Given the description of an element on the screen output the (x, y) to click on. 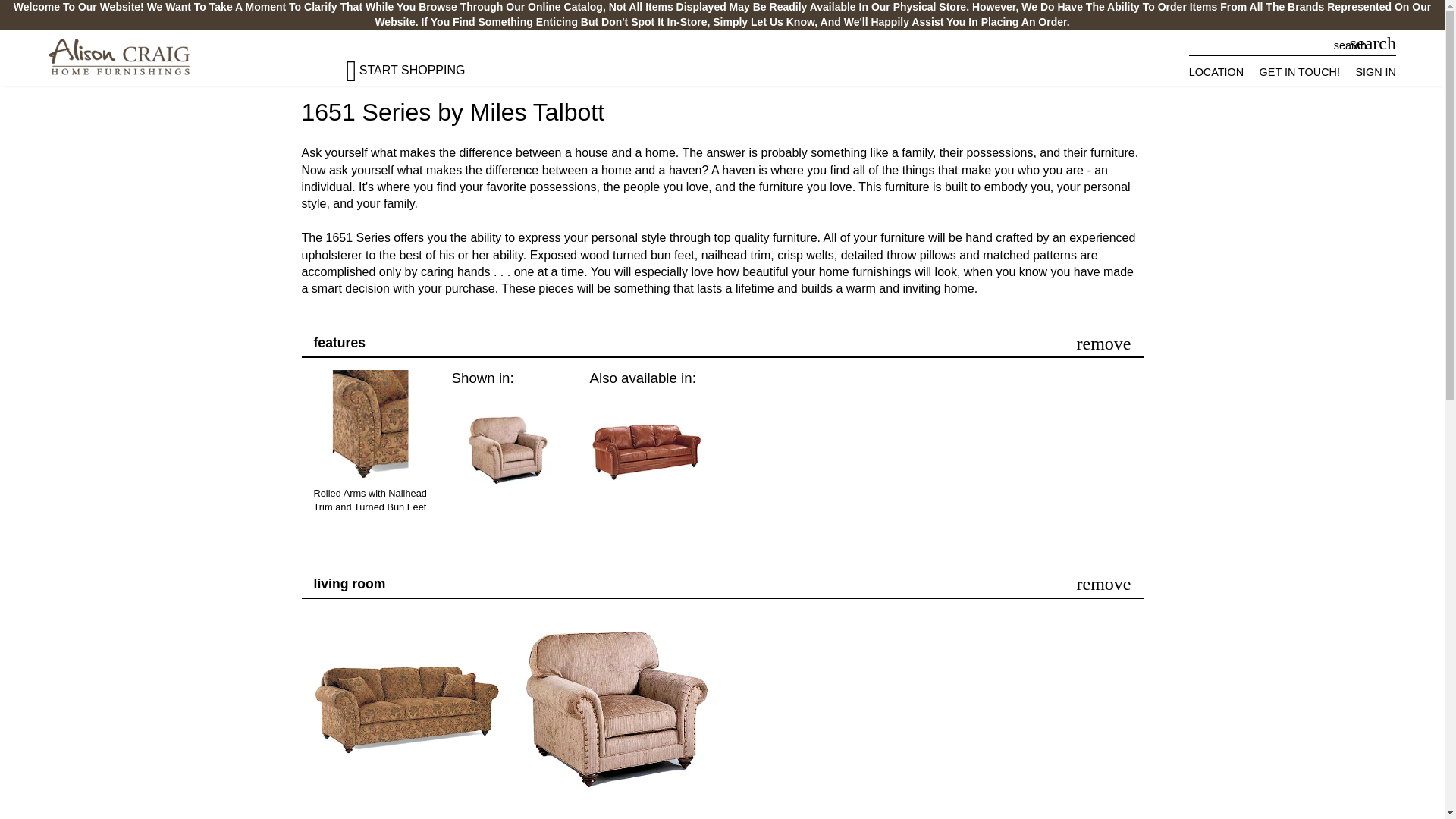
Click to view this Item. (381, 816)
Click to view this Item. (592, 816)
START SHOPPING (419, 63)
View Larger Image (371, 467)
Click to view this Item. (406, 710)
Click to view this Item. (617, 710)
View Larger Image (508, 449)
View Larger Image (646, 449)
